Given the description of an element on the screen output the (x, y) to click on. 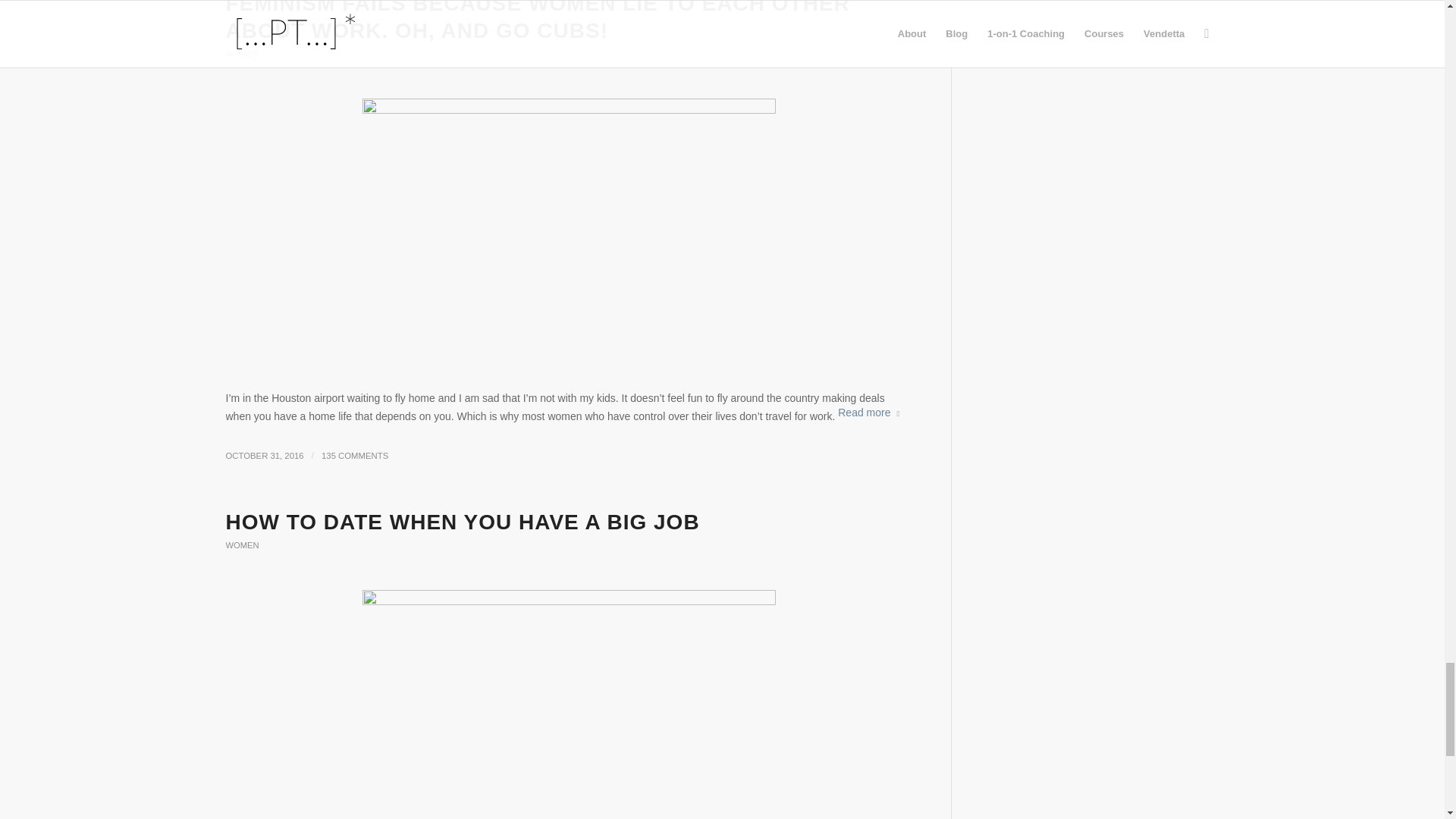
Permanent Link: How to date when you have a big job (462, 521)
